Given the description of an element on the screen output the (x, y) to click on. 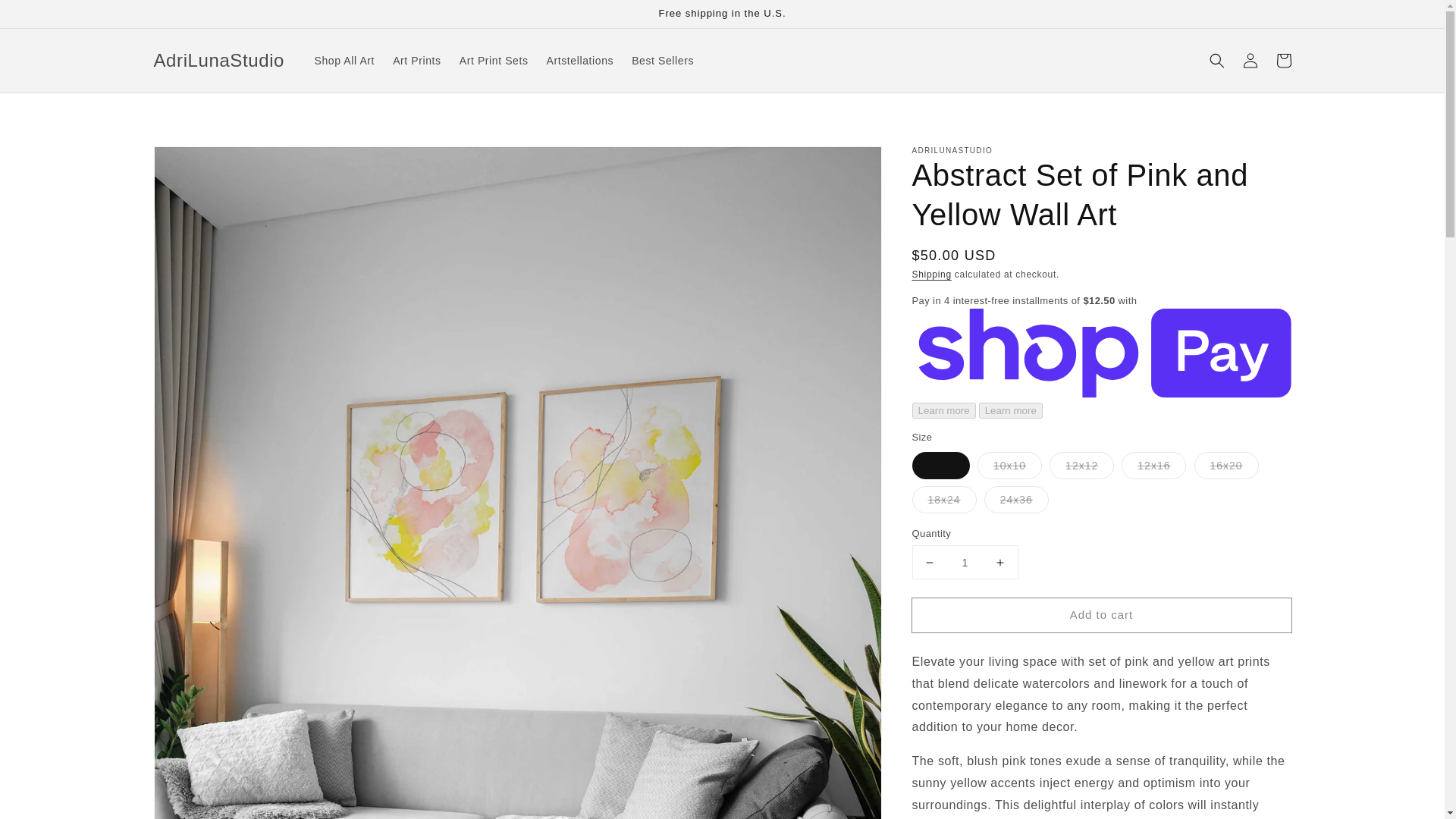
Log in (1249, 60)
Skip to product information (198, 162)
Shop All Art (344, 60)
Artstellations (580, 60)
Shipping (930, 274)
1 (964, 562)
